Given the description of an element on the screen output the (x, y) to click on. 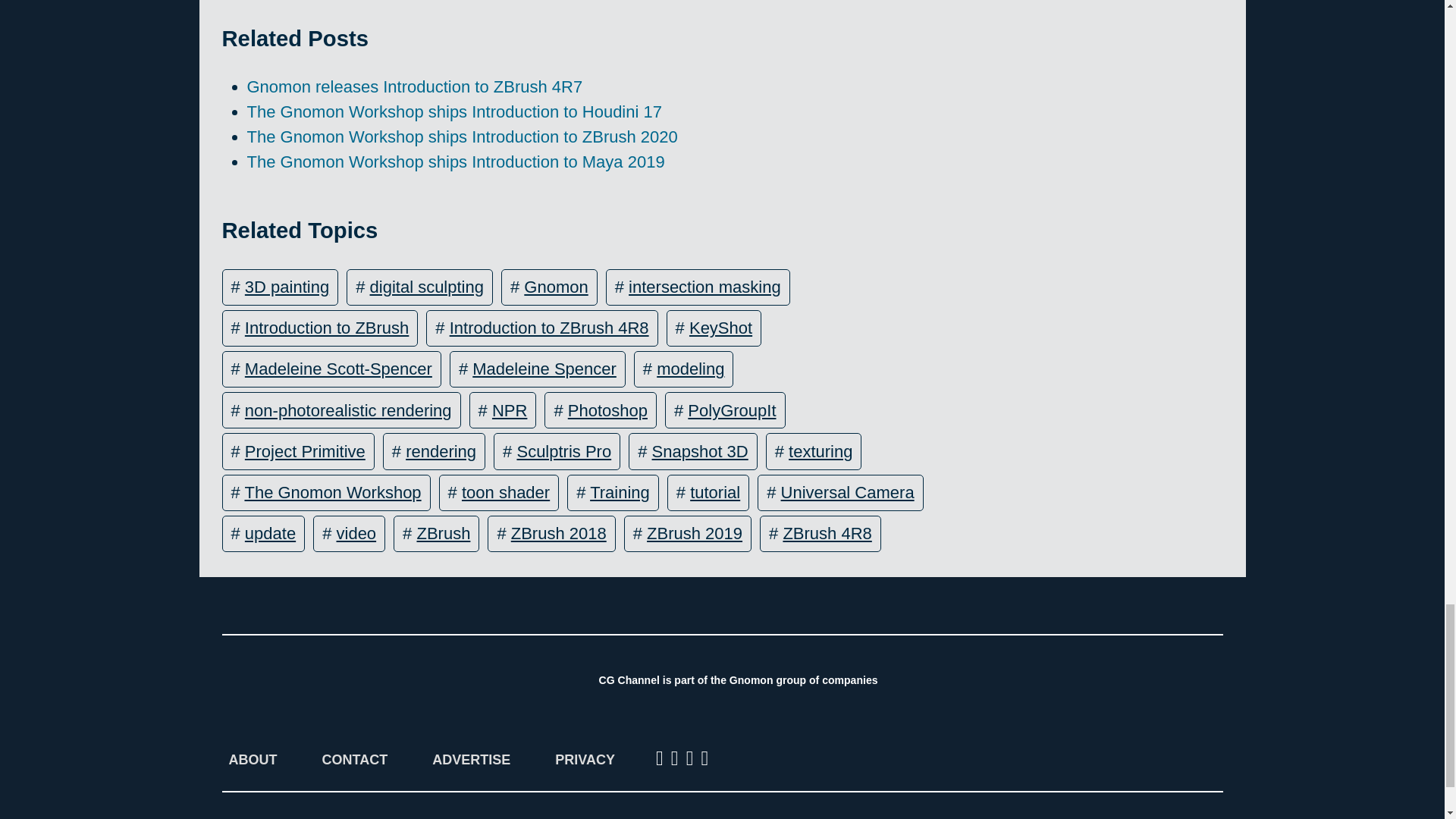
Madeleine Spencer (543, 368)
The Gnomon Workshop ships Introduction to ZBrush 2020 (462, 136)
KeyShot (720, 327)
The Gnomon Workshop ships Introduction to Maya 2019 (456, 161)
Madeleine Scott-Spencer (338, 368)
Gnomon Workshop (1143, 680)
Gnomon releases Introduction to ZBrush 4R7 (415, 86)
3D painting (286, 286)
The Gnomon Workshop ships Introduction to Houdini 17 (454, 111)
modeling (689, 368)
